Given the description of an element on the screen output the (x, y) to click on. 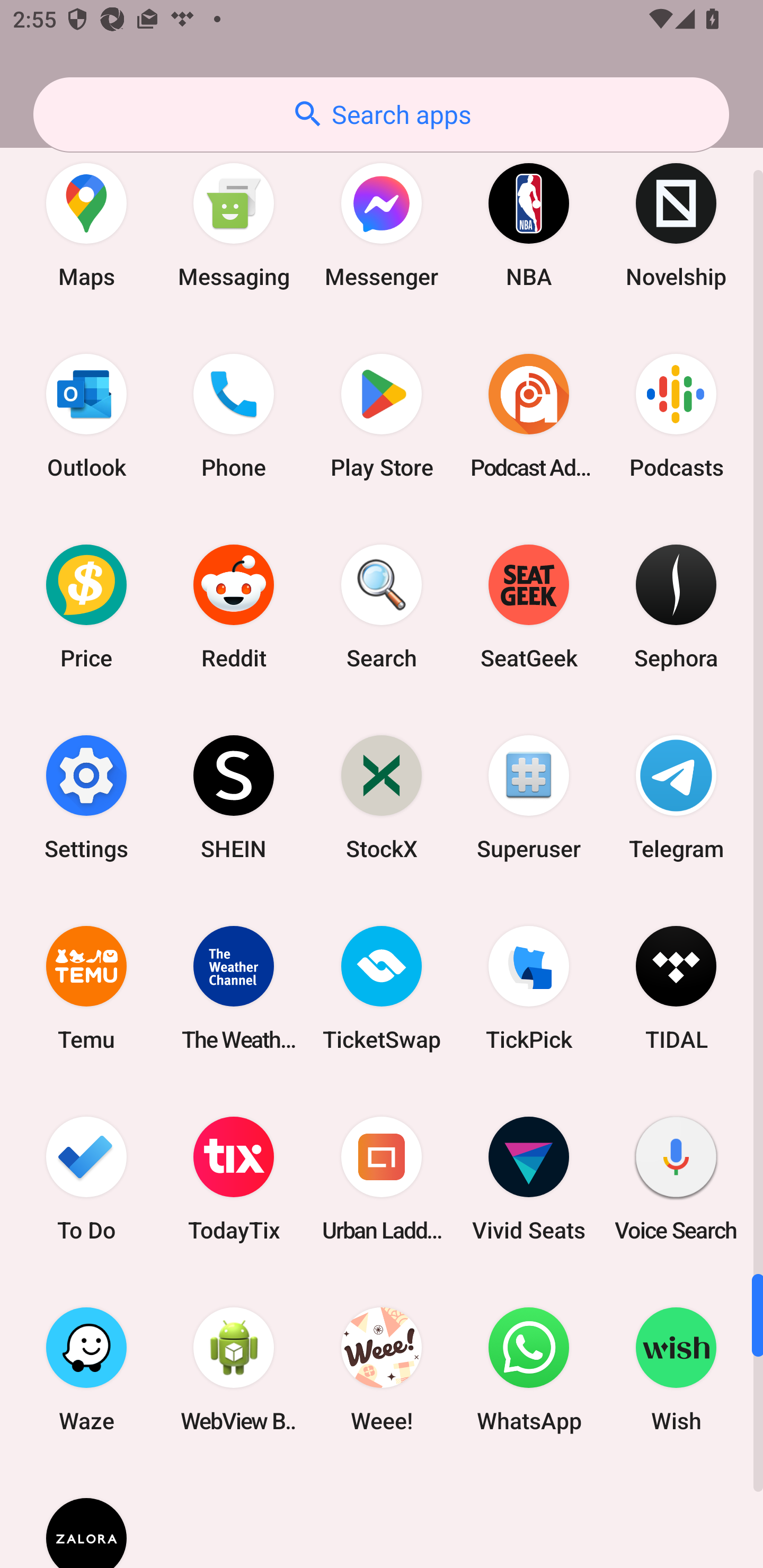
To Do (86, 1178)
